Given the description of an element on the screen output the (x, y) to click on. 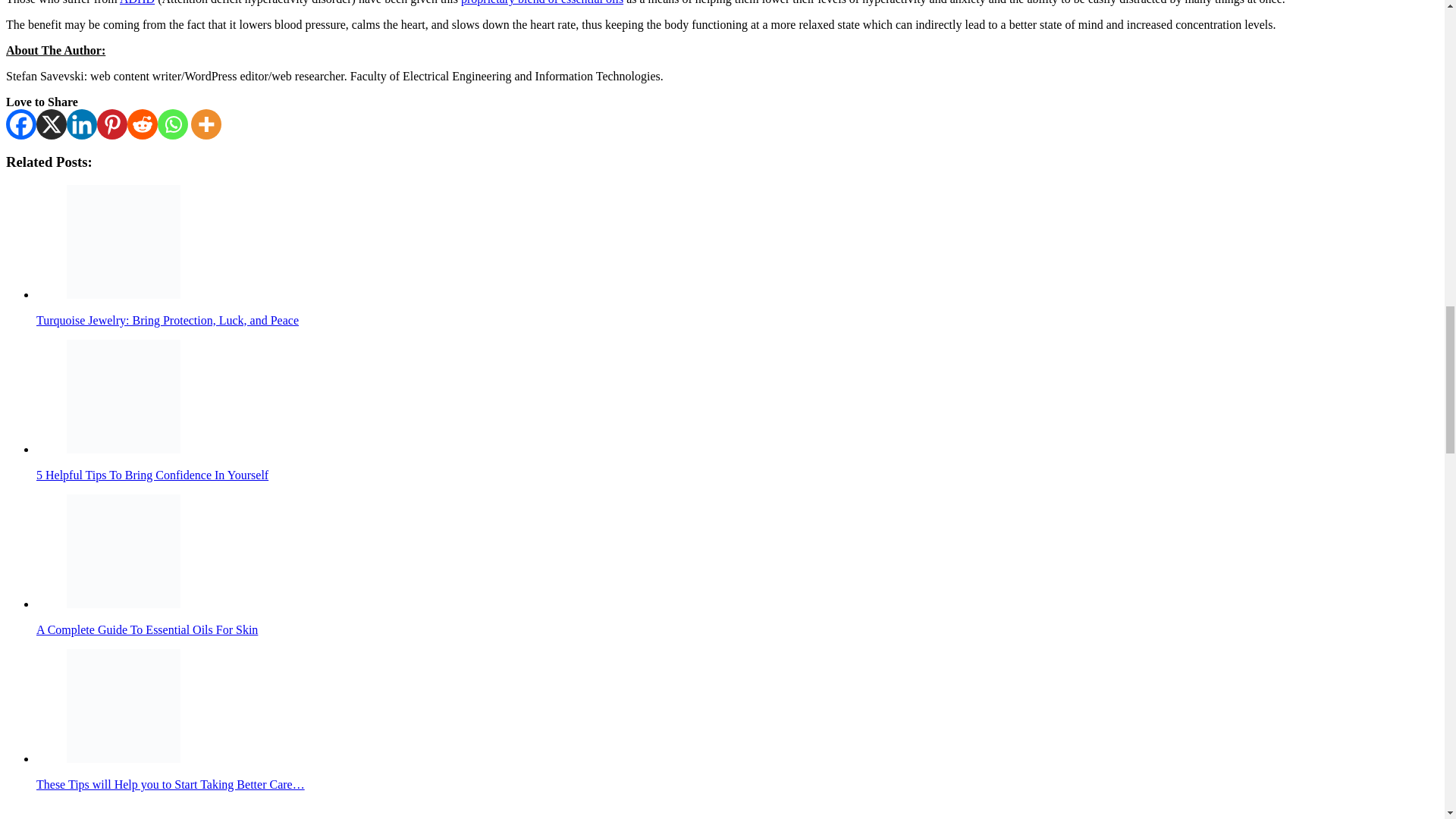
Facebook (20, 123)
5 Helpful Tips To Bring Confidence In Yourself (123, 396)
Whatsapp (172, 123)
ADHD (136, 2)
Pinterest (112, 123)
Linkedin (81, 123)
Turquoise Jewelry: Bring Protection, Luck, and Peace (123, 241)
A Complete Guide To Essential Oils For Skin (123, 551)
Reddit (142, 123)
